Given the description of an element on the screen output the (x, y) to click on. 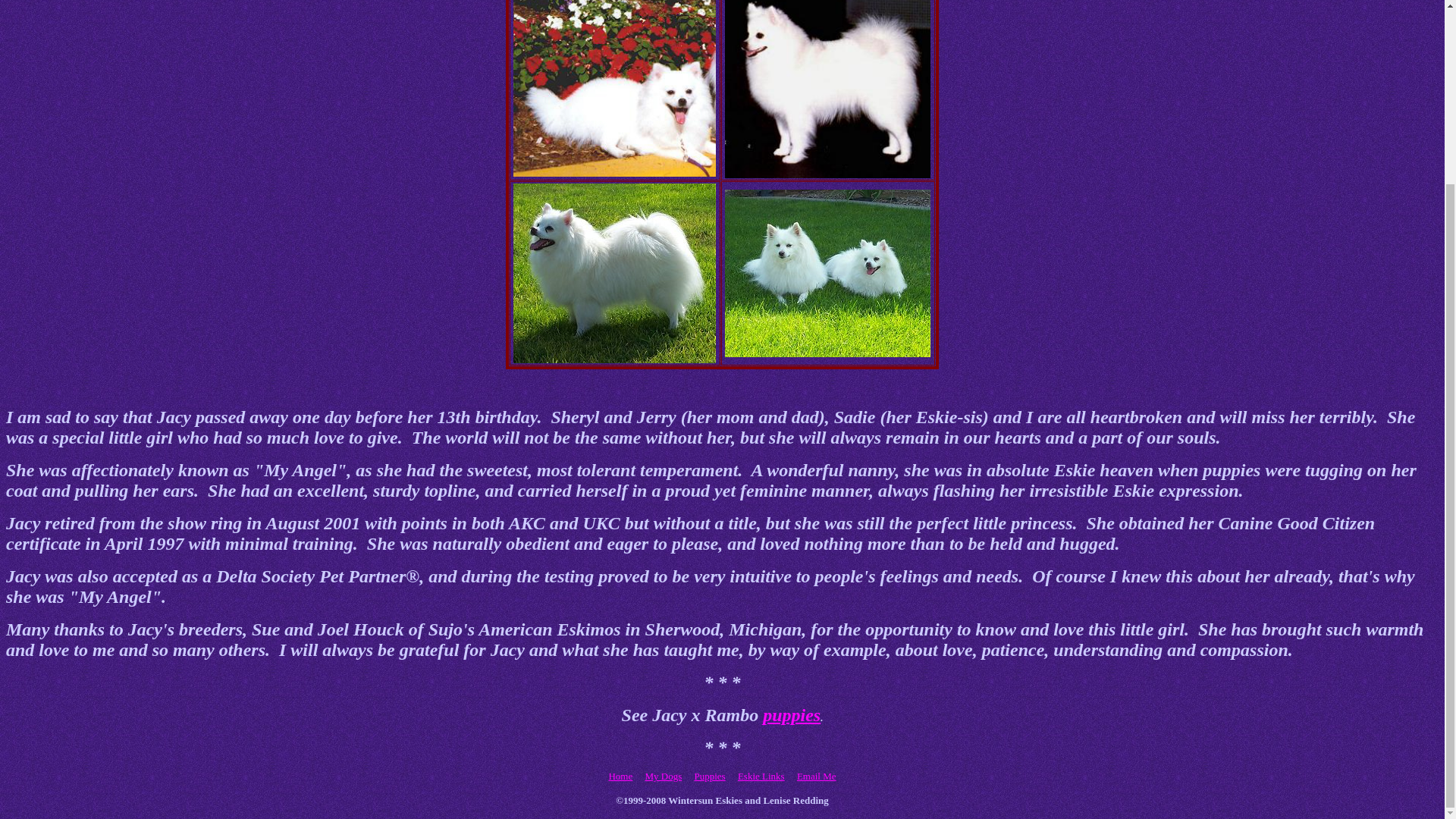
Eskie Links (761, 776)
puppies (791, 714)
My Dogs (663, 776)
Email Me (815, 776)
Home (619, 776)
Puppies (709, 776)
